Given the description of an element on the screen output the (x, y) to click on. 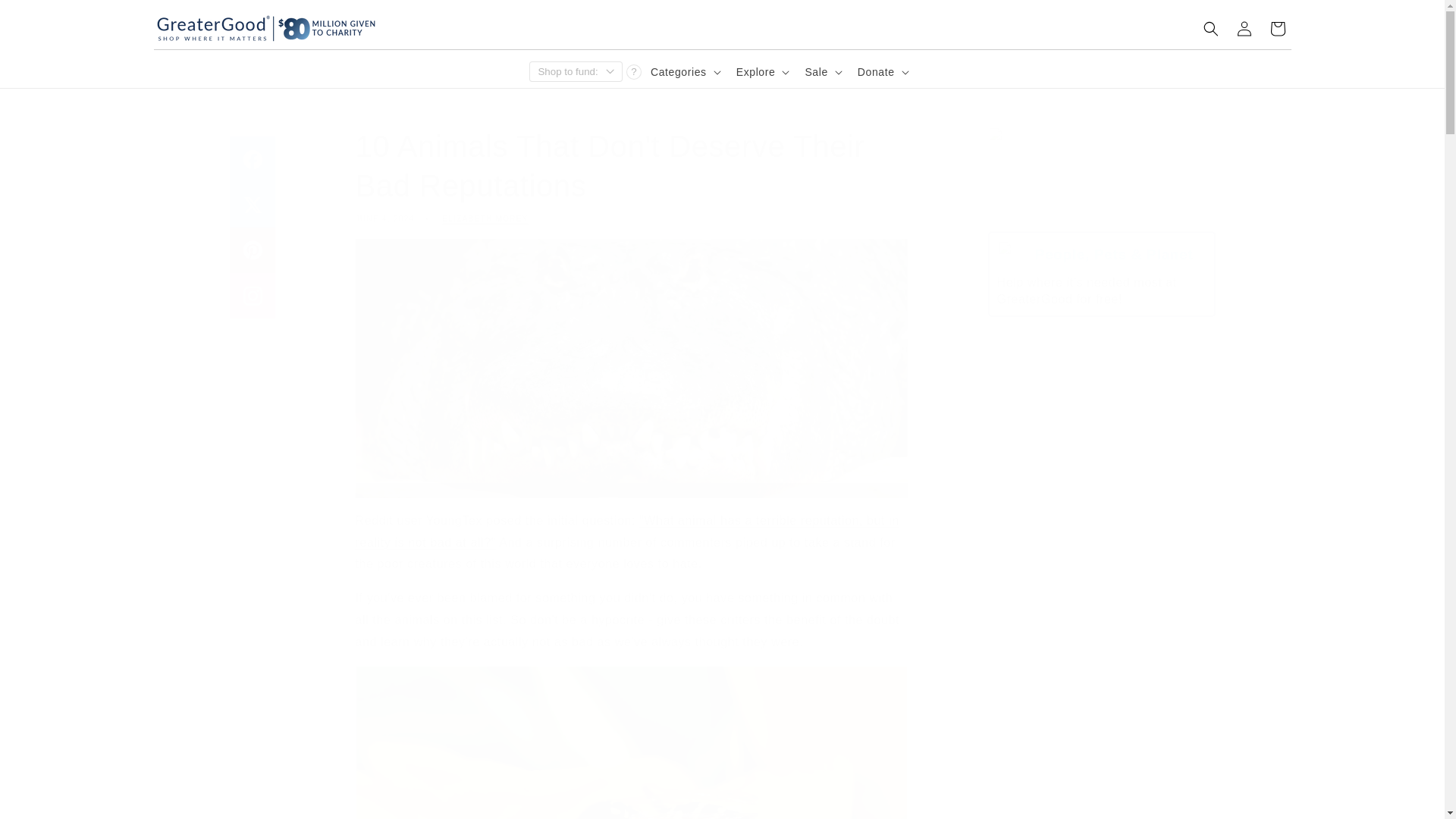
Share on Pinterest (251, 249)
Share on X (251, 204)
Share on Facebook (251, 158)
Skip to content (45, 17)
Share on Instagram (251, 295)
